Given the description of an element on the screen output the (x, y) to click on. 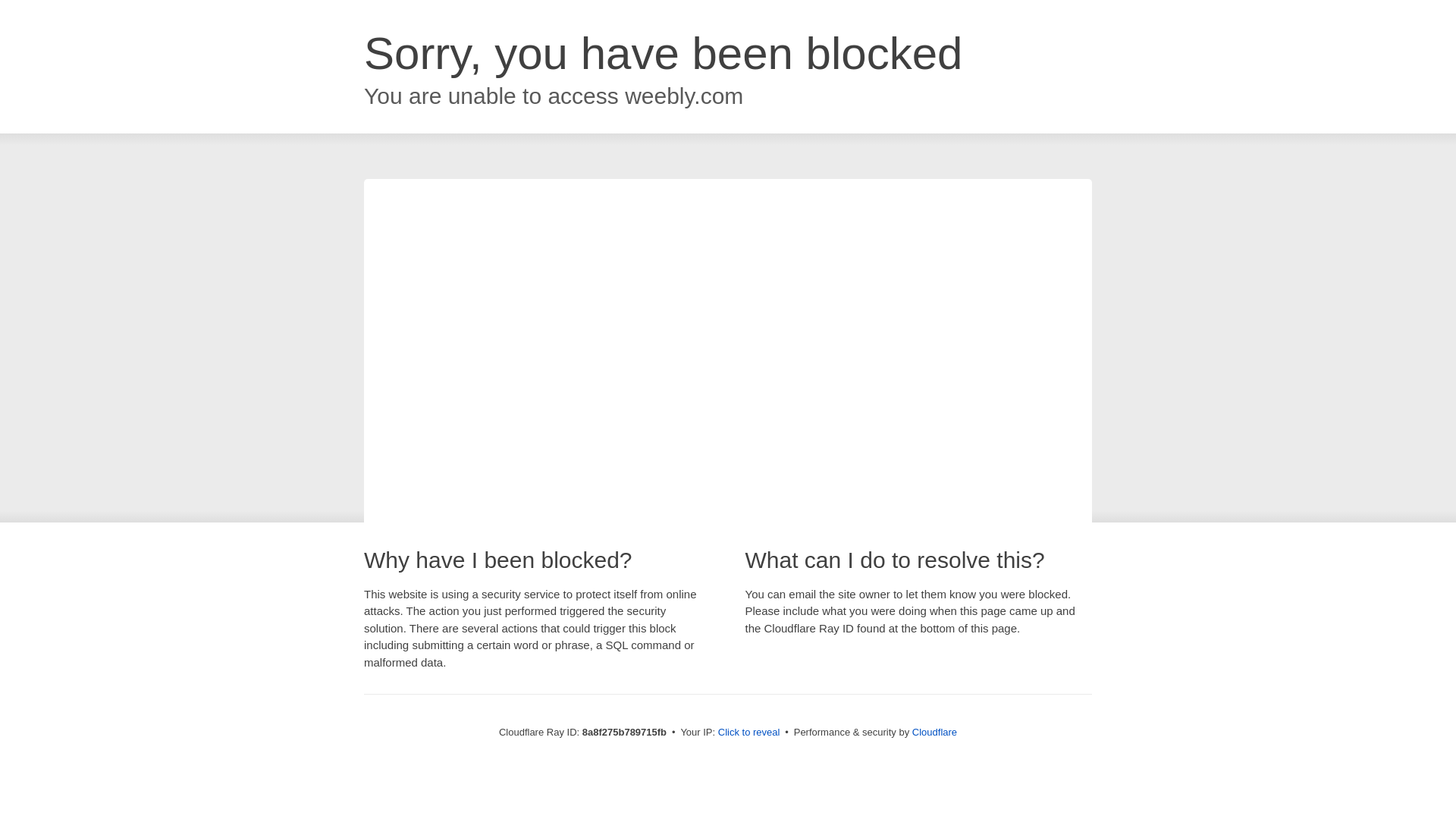
Cloudflare (934, 731)
Click to reveal (748, 732)
